Given the description of an element on the screen output the (x, y) to click on. 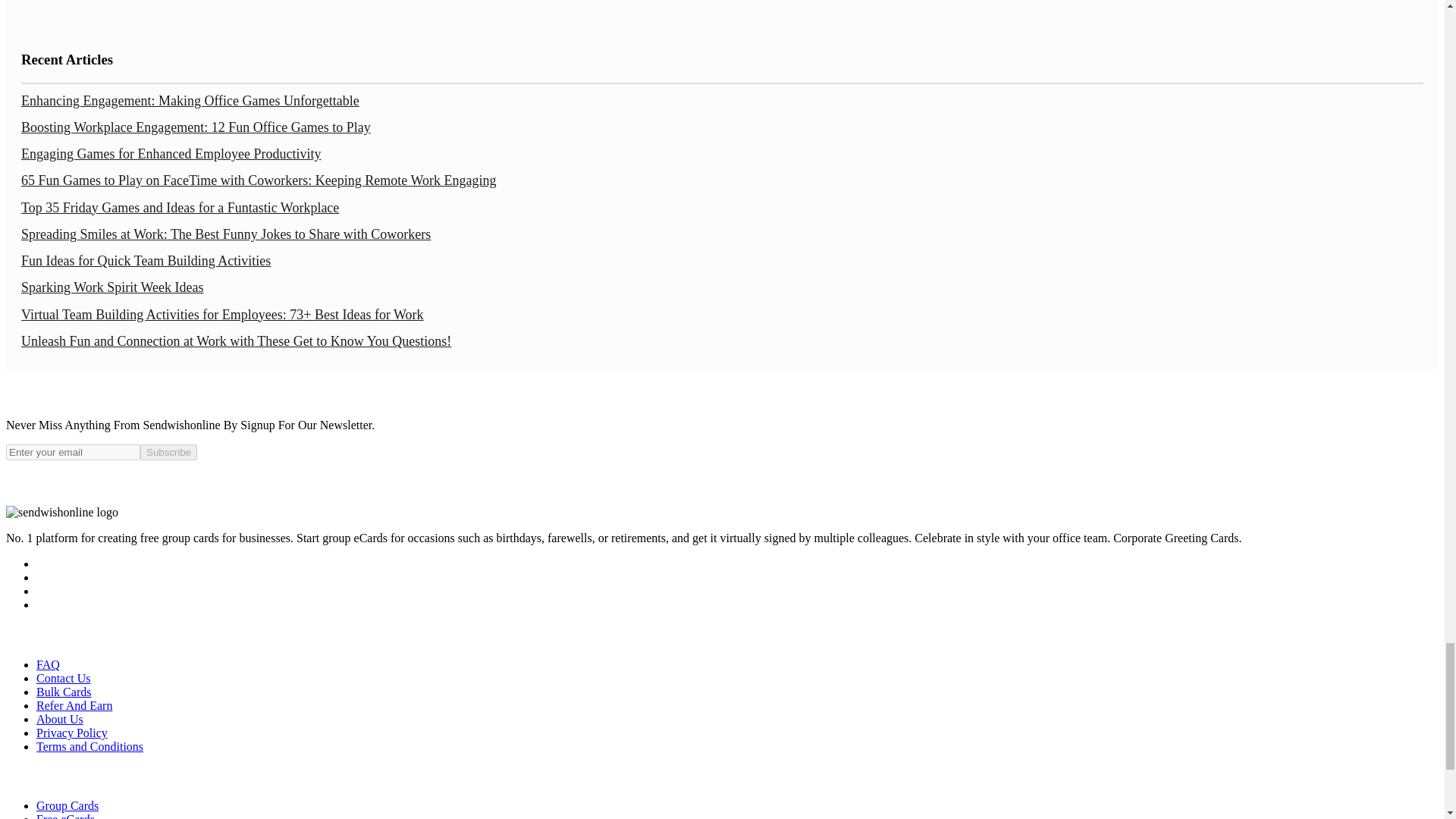
Boosting Workplace Engagement: 12 Fun Office Games to Play (196, 127)
Enhancing Engagement: Making Office Games Unforgettable (190, 100)
Engaging Games for Enhanced Employee Productivity (170, 153)
